Given the description of an element on the screen output the (x, y) to click on. 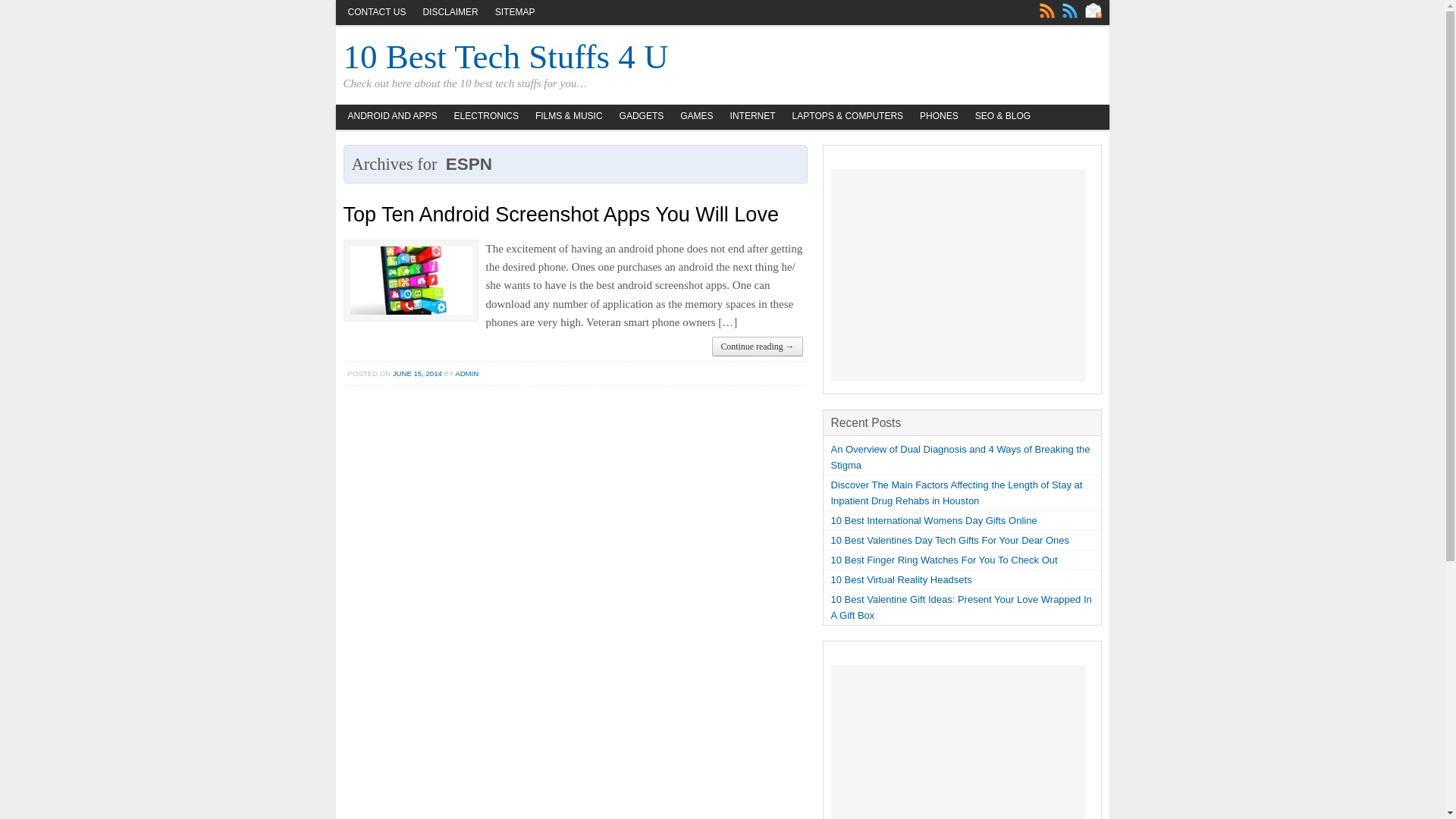
Posts Element type: text (1046, 10)
10 Best Tech Stuffs 4 U Element type: text (505, 56)
INTERNET Element type: text (752, 116)
DISCLAIMER Element type: text (449, 12)
CONTACT US Element type: text (376, 12)
FILMS & MUSIC Element type: text (568, 116)
10 Best Valentines Day Tech Gifts For Your Dear Ones Element type: text (950, 540)
PHONES Element type: text (939, 116)
Top Ten Android Screenshot Apps You Will Love Element type: text (560, 214)
ELECTRONICS Element type: text (486, 116)
Advertisement Element type: hover (958, 275)
10 Best International Womens Day Gifts Online Element type: text (934, 520)
10 Best Finger Ring Watches For You To Check Out Element type: text (944, 559)
JUNE 15, 2014 Element type: text (417, 372)
SITEMAP Element type: text (514, 12)
GADGETS Element type: text (641, 116)
Email Element type: text (1092, 10)
SEO & BLOG Element type: text (1002, 116)
ANDROID AND APPS Element type: text (391, 116)
10 Best Virtual Reality Headsets Element type: text (901, 579)
LAPTOPS & COMPUTERS Element type: text (847, 116)
Comments Element type: text (1068, 10)
ADMIN Element type: text (466, 372)
GAMES Element type: text (696, 116)
